Given the description of an element on the screen output the (x, y) to click on. 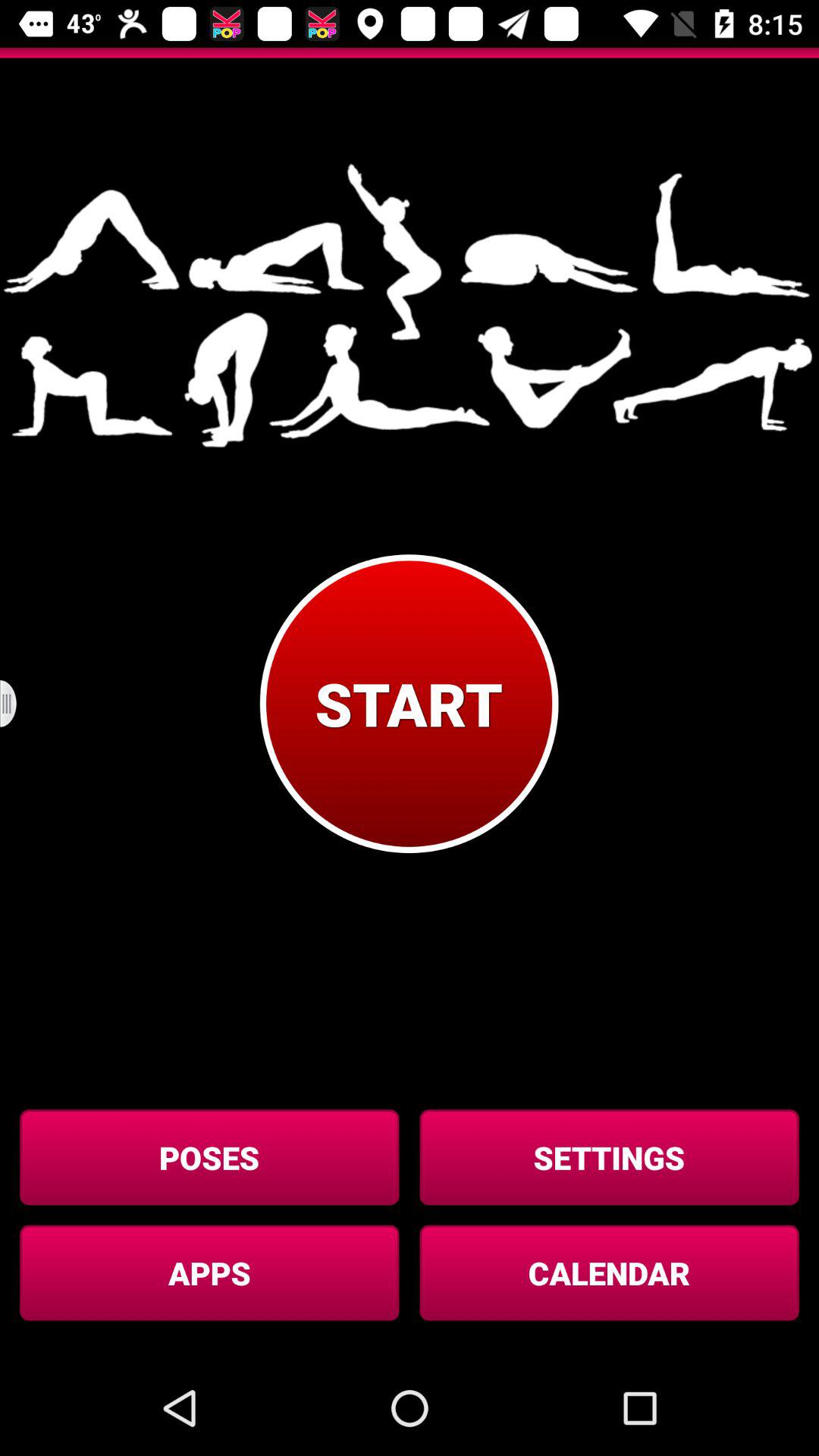
open the button to the left of the start (18, 703)
